Given the description of an element on the screen output the (x, y) to click on. 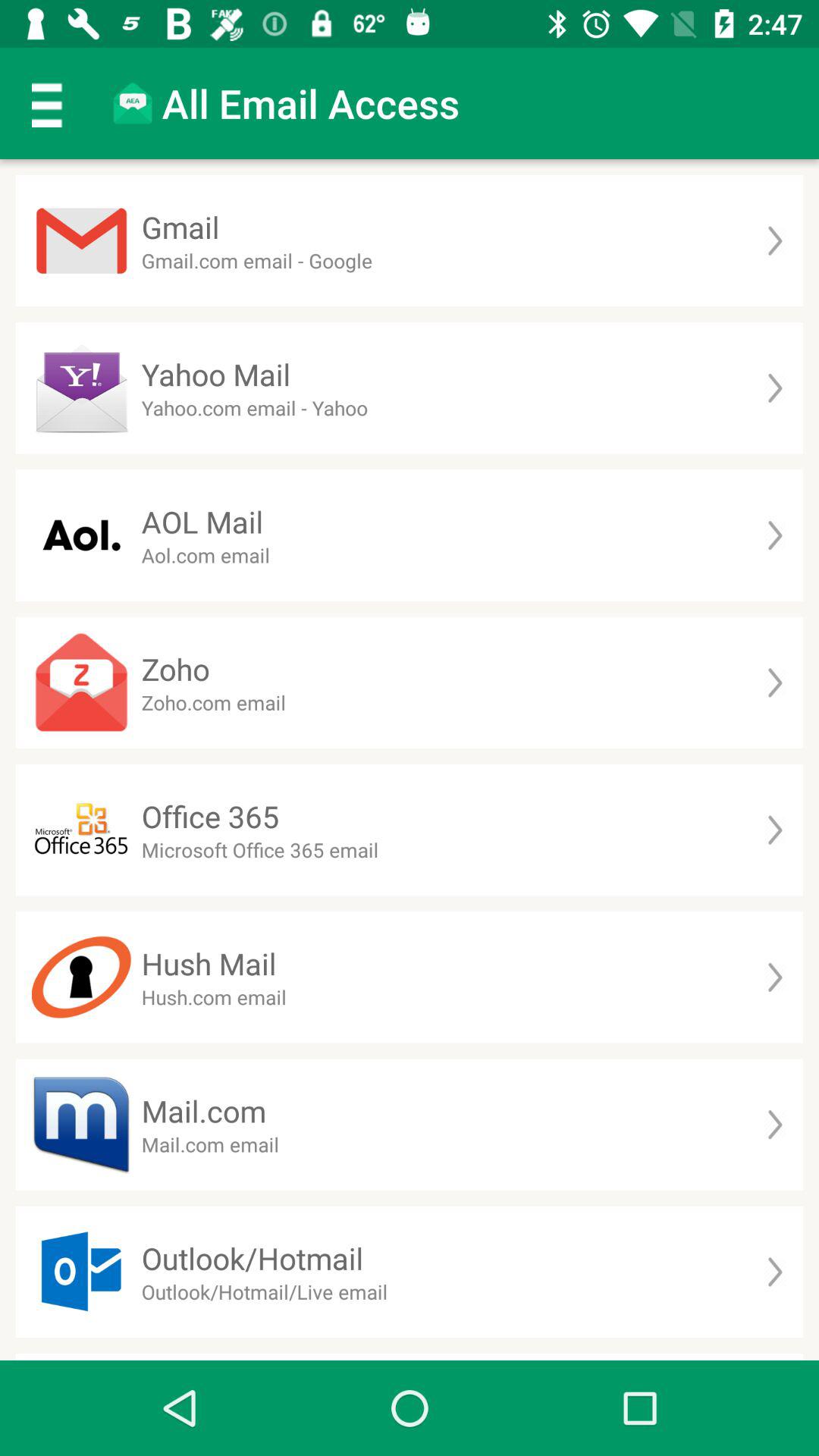
select icon below the gmail com email (215, 374)
